Given the description of an element on the screen output the (x, y) to click on. 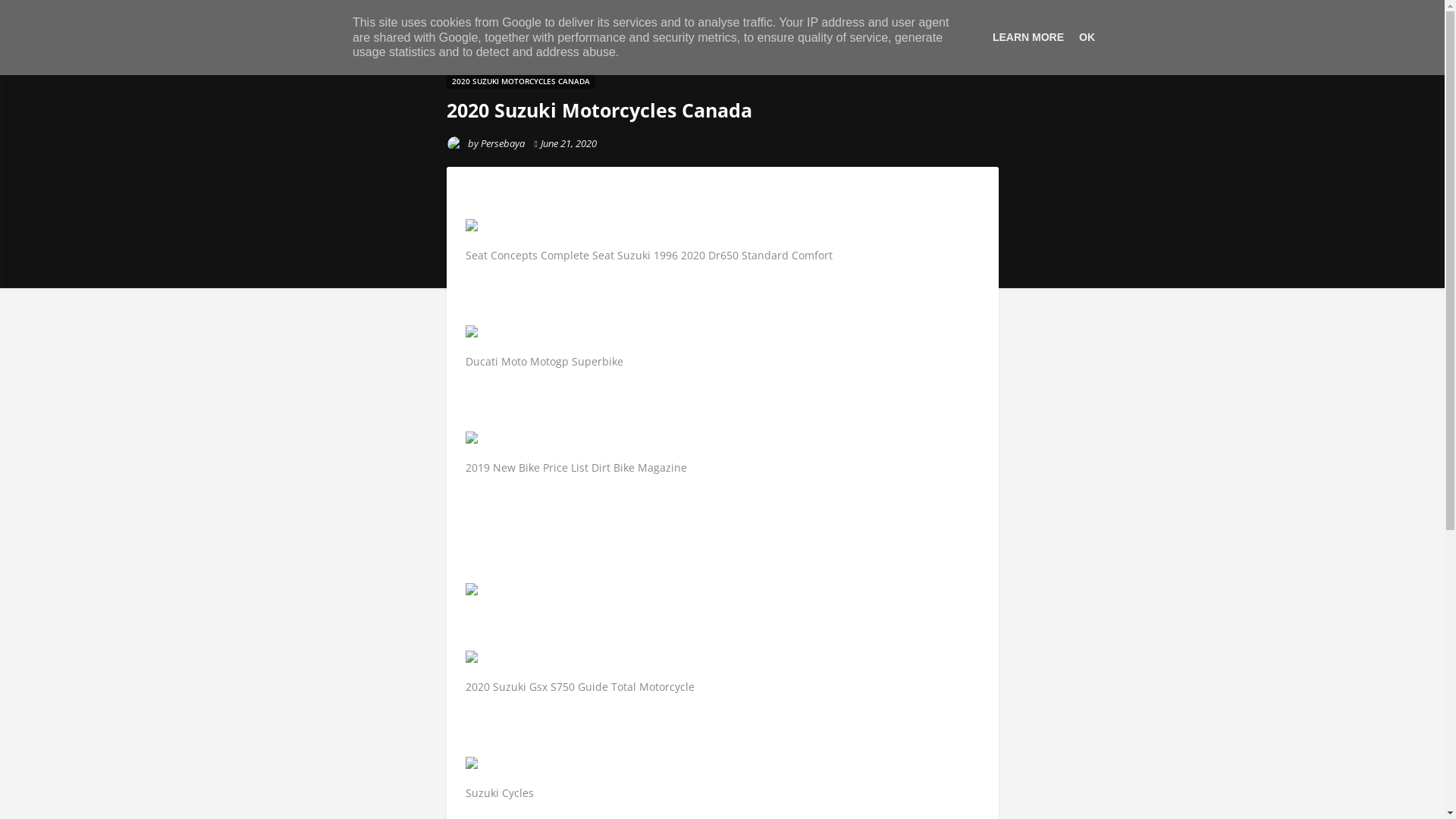
OK Element type: text (1086, 37)
Persebaya Element type: text (502, 143)
LEARN MORE Element type: text (1028, 37)
